Given the description of an element on the screen output the (x, y) to click on. 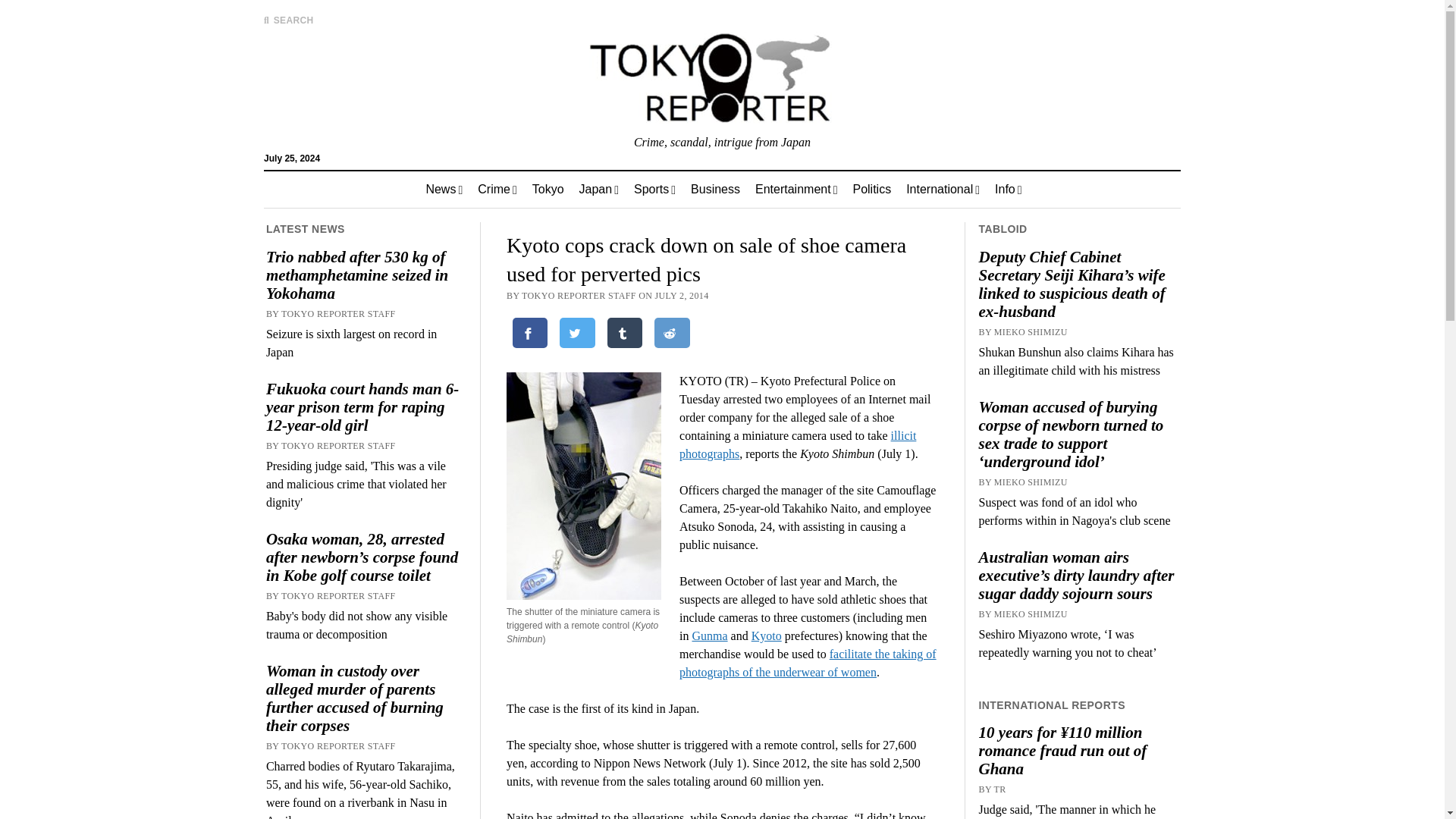
SEARCH (288, 20)
Tokyo (547, 189)
News (443, 189)
Sports (654, 189)
Crime (496, 189)
Entertainment (795, 189)
Politics (871, 189)
Japan (598, 189)
Business (715, 189)
Search (945, 129)
